Given the description of an element on the screen output the (x, y) to click on. 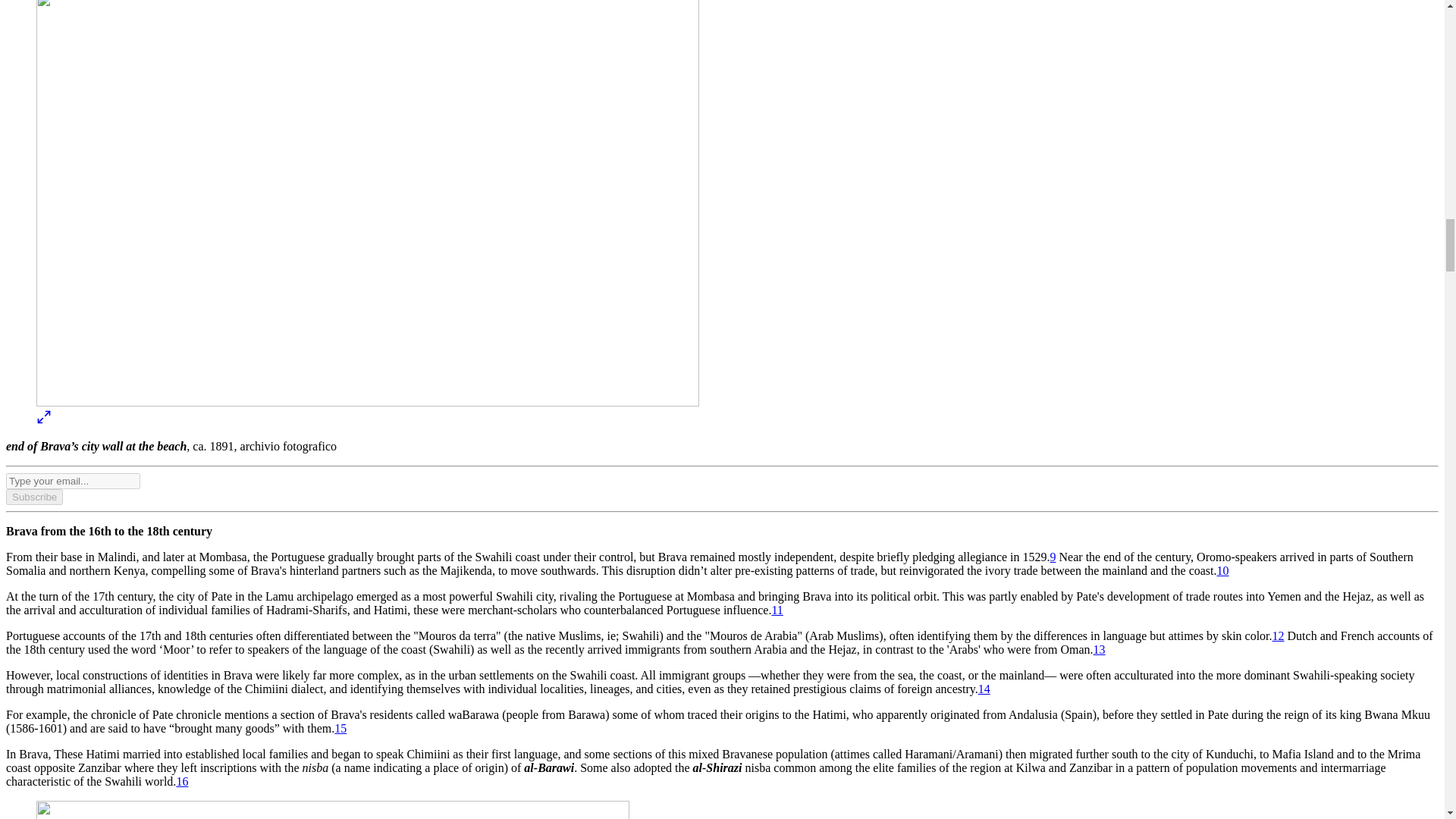
Subscribe (33, 496)
9 (1053, 556)
